Given the description of an element on the screen output the (x, y) to click on. 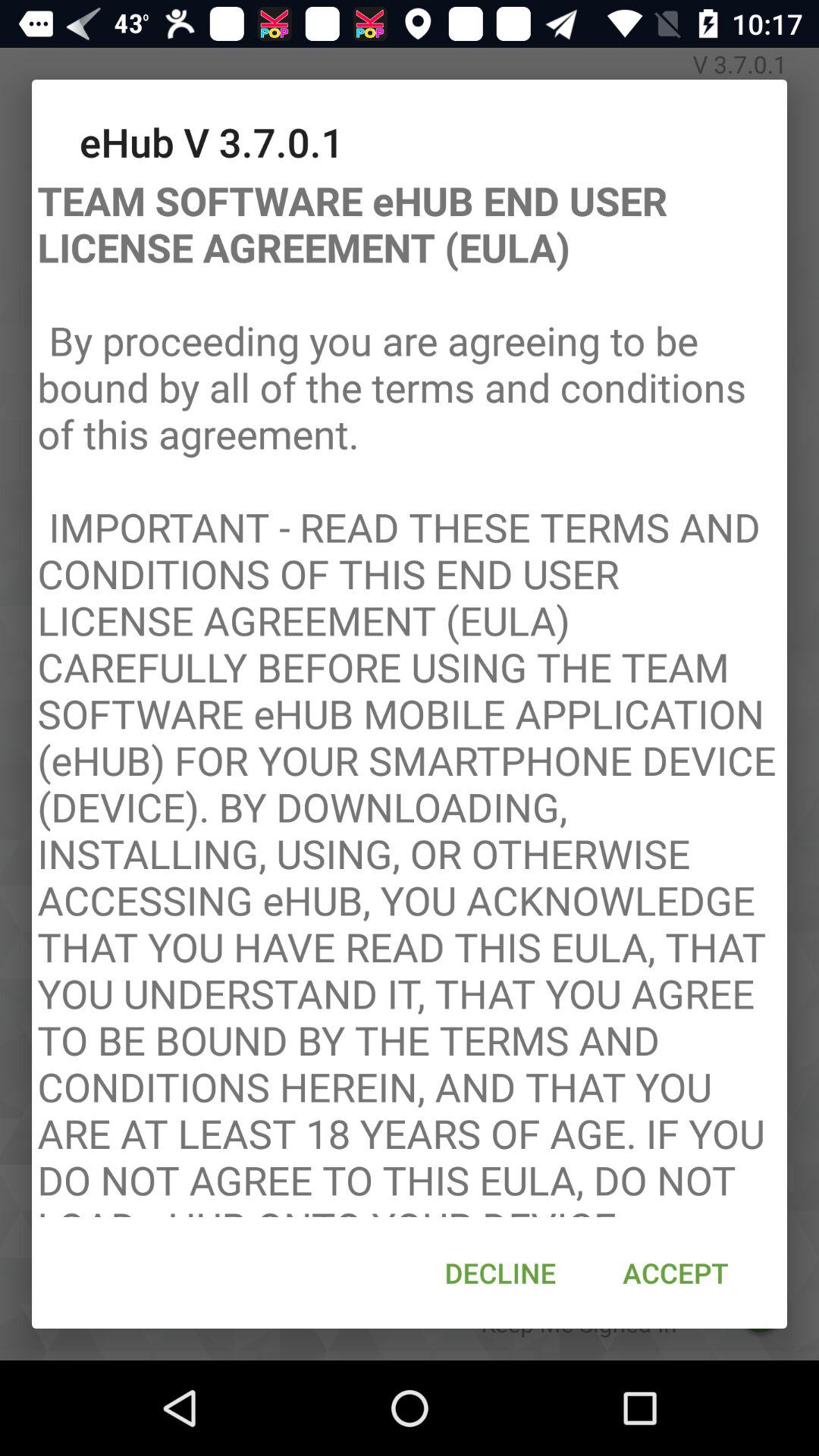
click the item below the team software ehub item (500, 1272)
